Given the description of an element on the screen output the (x, y) to click on. 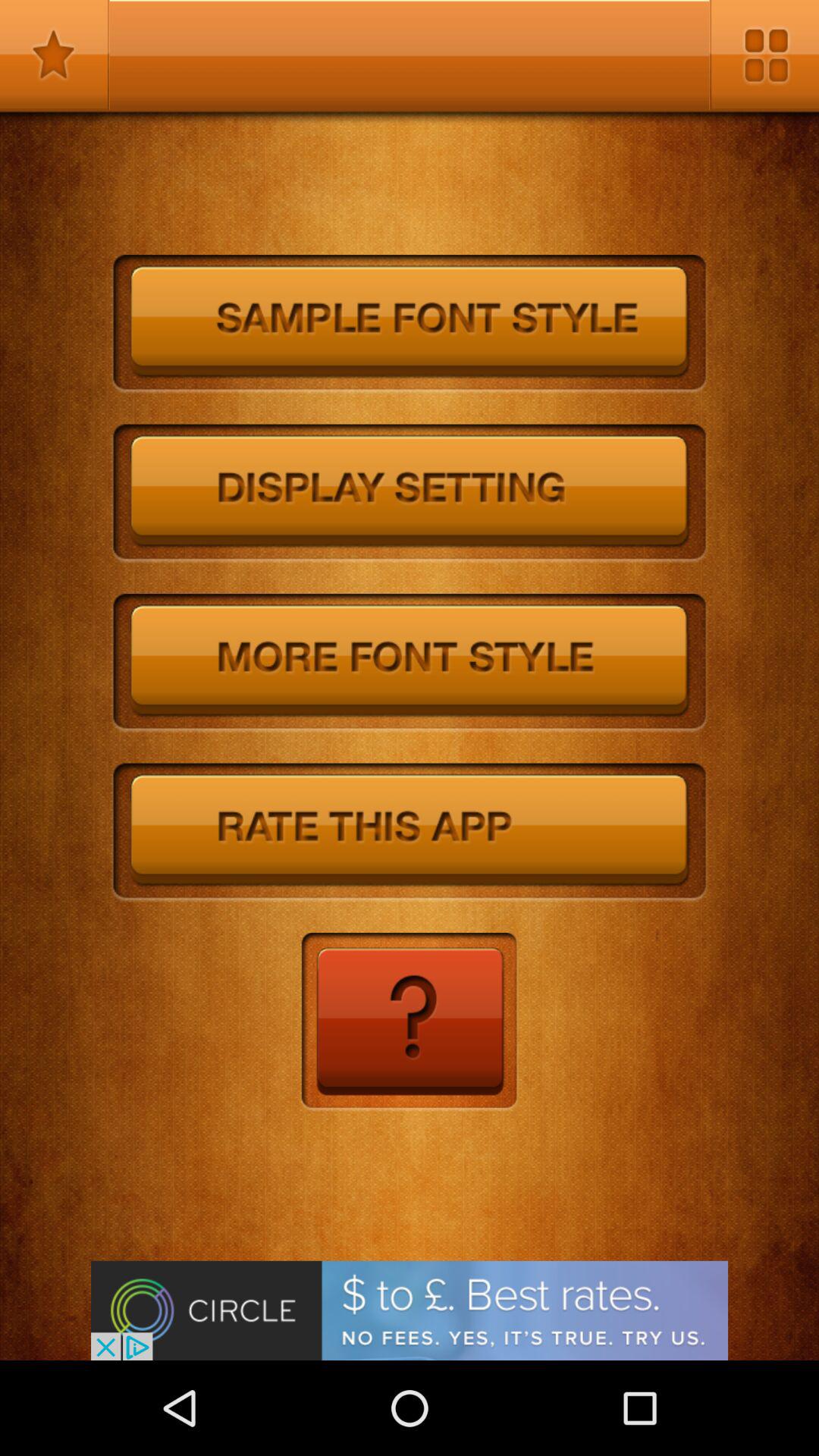
open display settings section (409, 493)
